Given the description of an element on the screen output the (x, y) to click on. 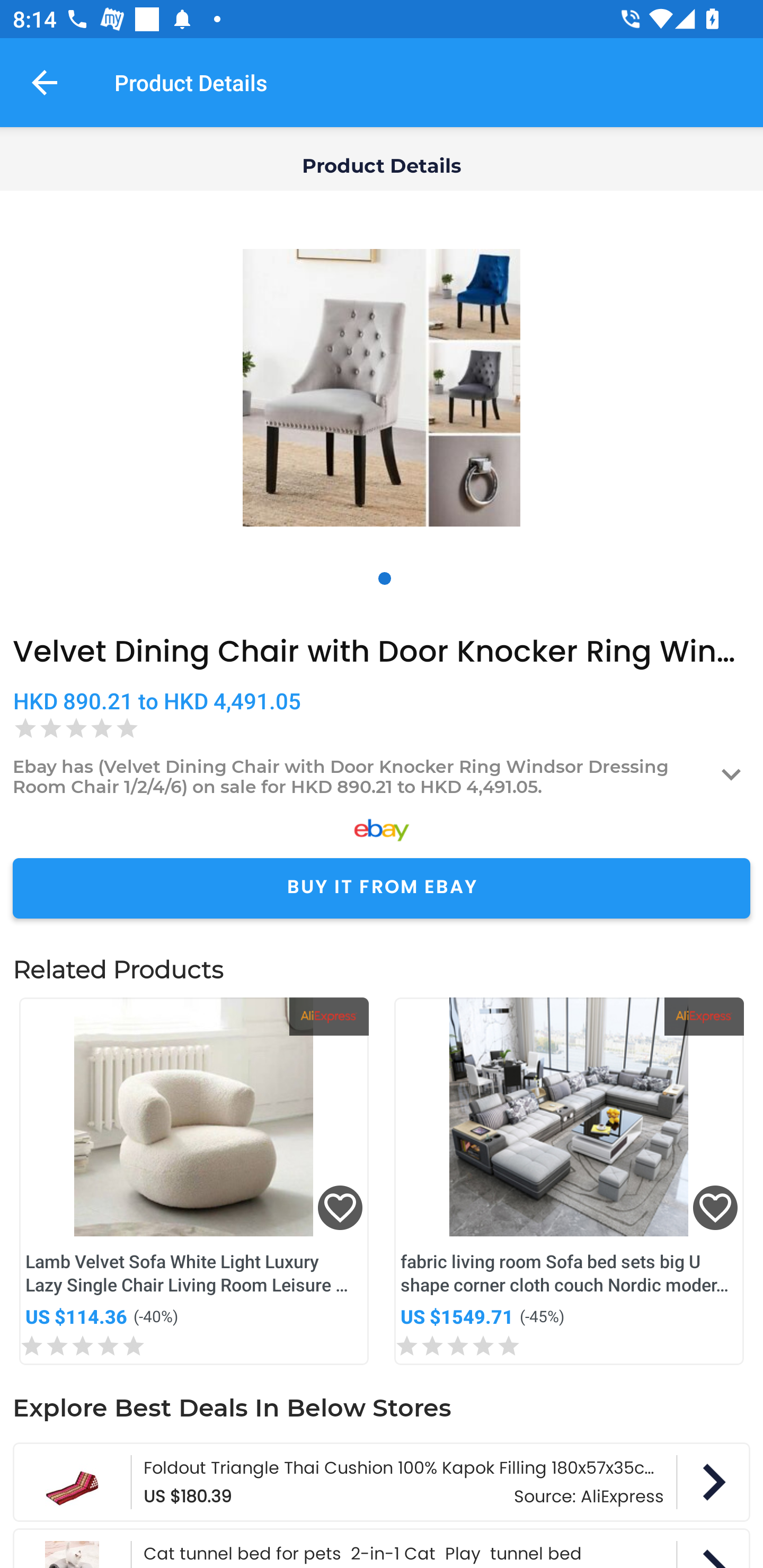
Navigate up (44, 82)
BUY IT FROM EBAY (381, 888)
